Given the description of an element on the screen output the (x, y) to click on. 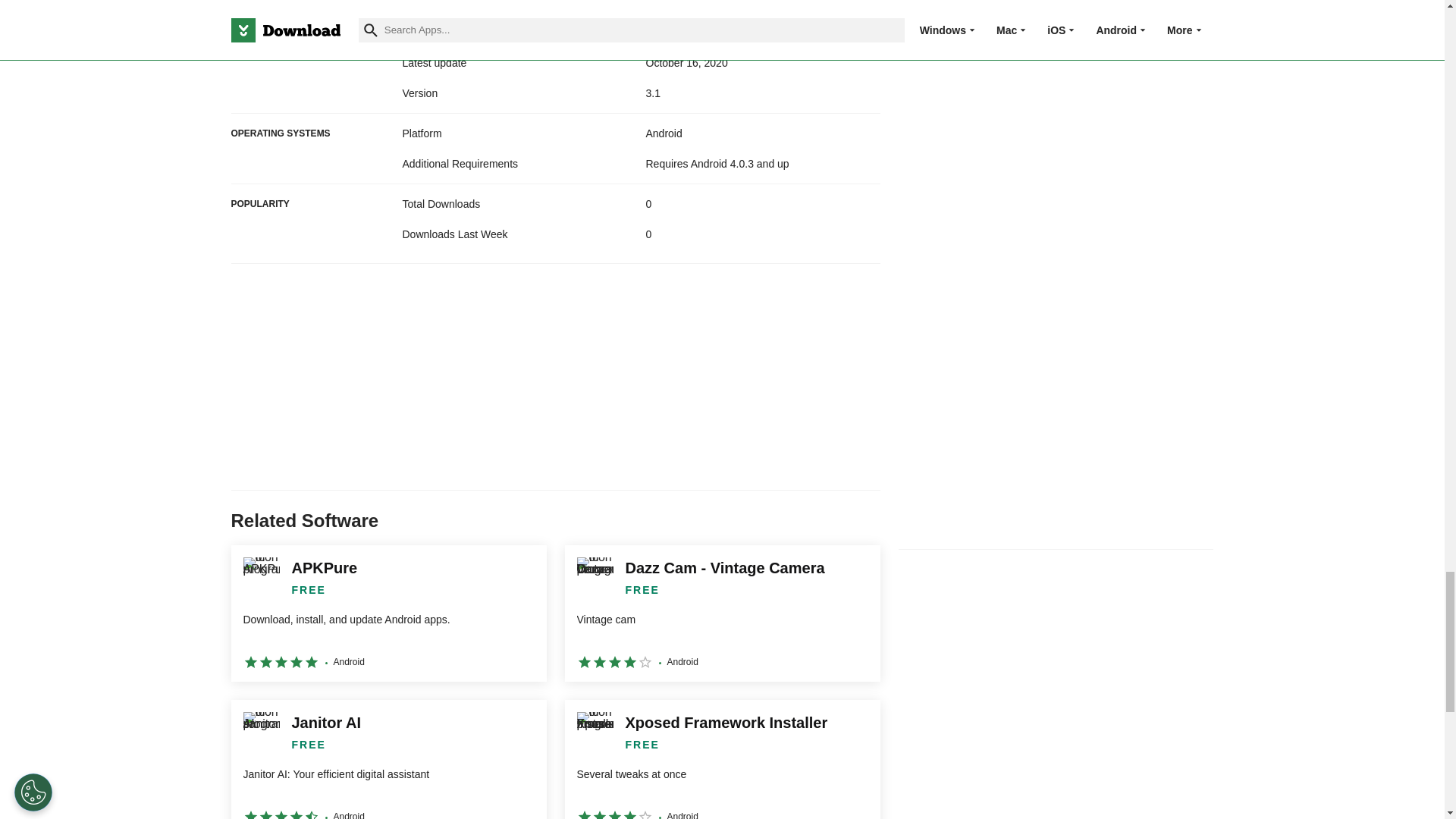
Janitor AI (388, 759)
APKPure (388, 613)
Xposed Framework Installer (721, 759)
Dazz Cam - Vintage Camera (721, 613)
